Given the description of an element on the screen output the (x, y) to click on. 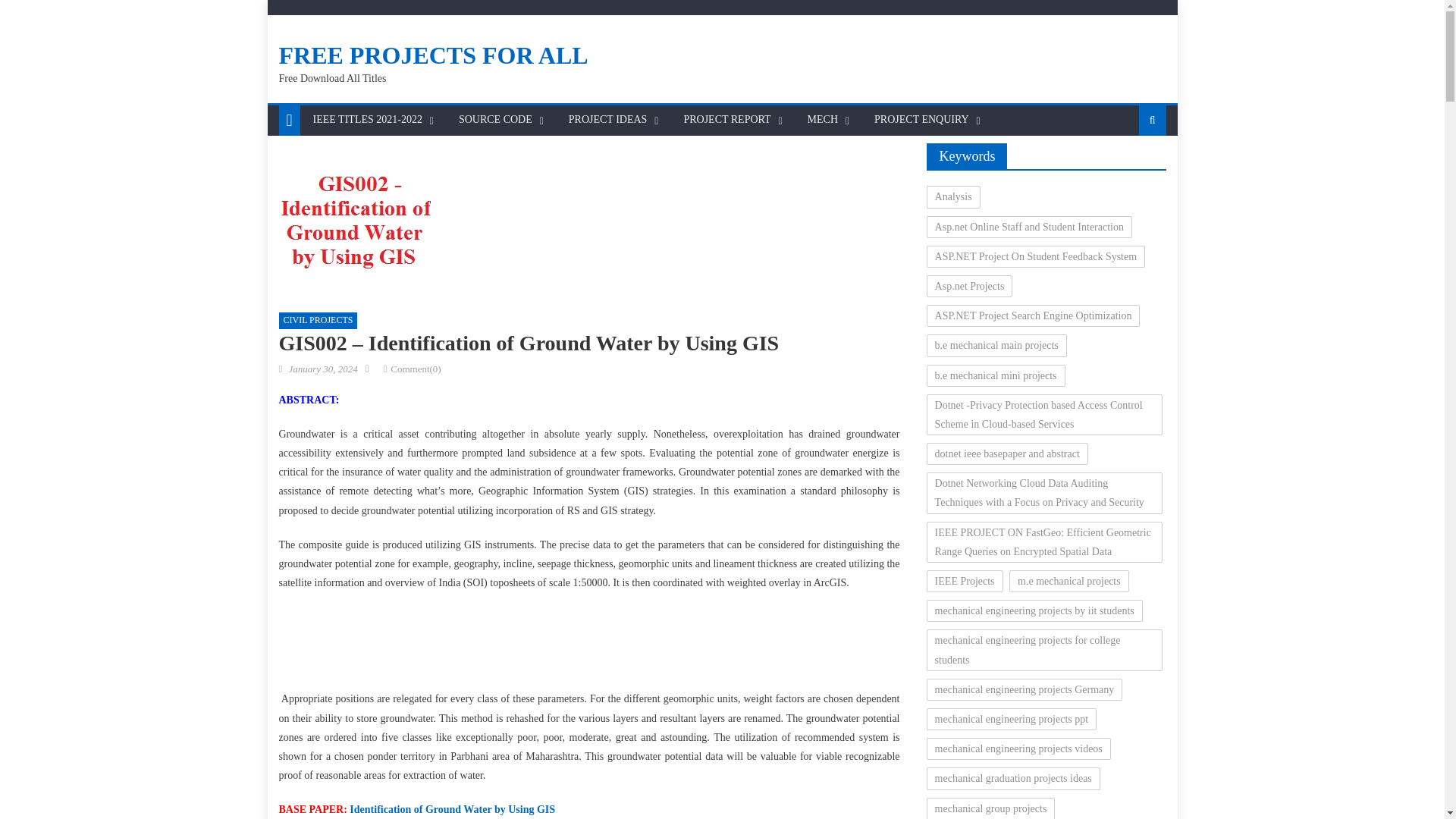
IEEE TITLES 2021-2022 (367, 119)
PROJECT REPORT (726, 119)
SOURCE CODE (494, 119)
Advertisement (588, 645)
PROJECT IDEAS (608, 119)
FREE PROJECTS FOR ALL (433, 54)
